Given the description of an element on the screen output the (x, y) to click on. 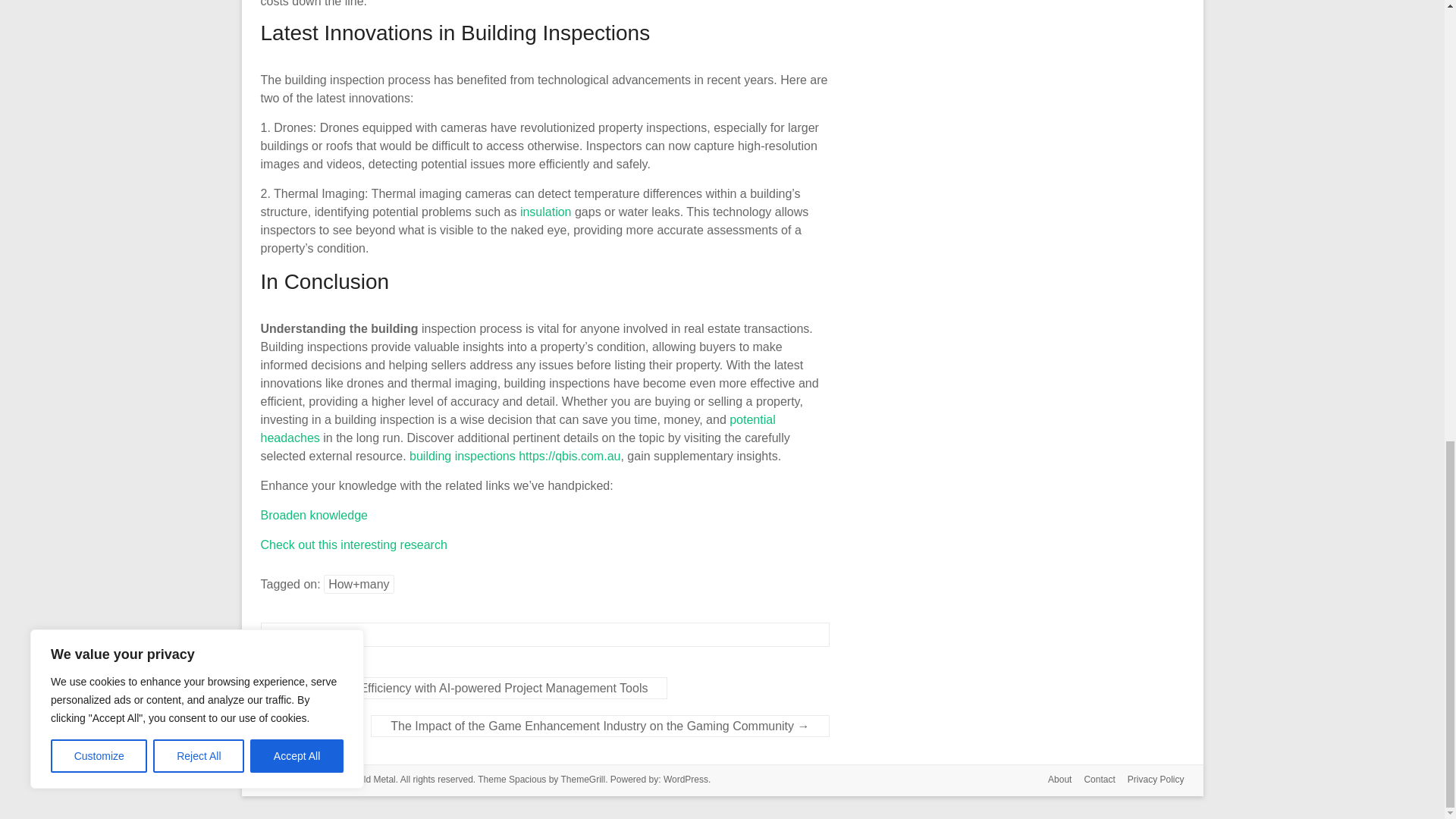
insulation (545, 211)
Broaden knowledge (314, 514)
Check out this interesting research (353, 544)
400 Gold Metal (363, 778)
potential headaches (518, 428)
Spacious (527, 778)
General (301, 634)
WordPress (685, 778)
